Given the description of an element on the screen output the (x, y) to click on. 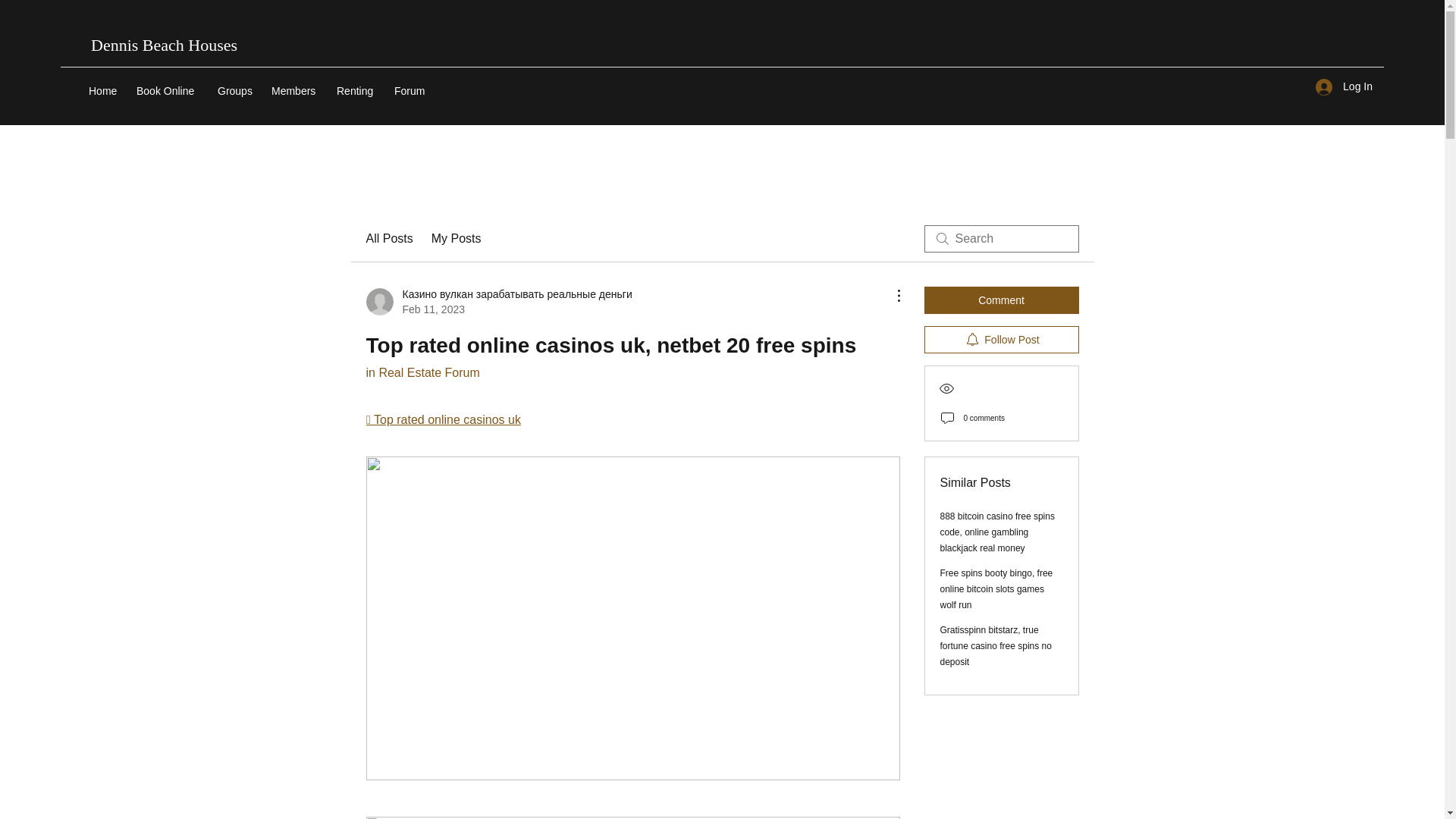
Log In (1343, 86)
in Real Estate Forum (422, 372)
Groups (236, 90)
All Posts (388, 239)
Renting (358, 90)
Dennis Beach Houses (163, 45)
Members (296, 90)
